Given the description of an element on the screen output the (x, y) to click on. 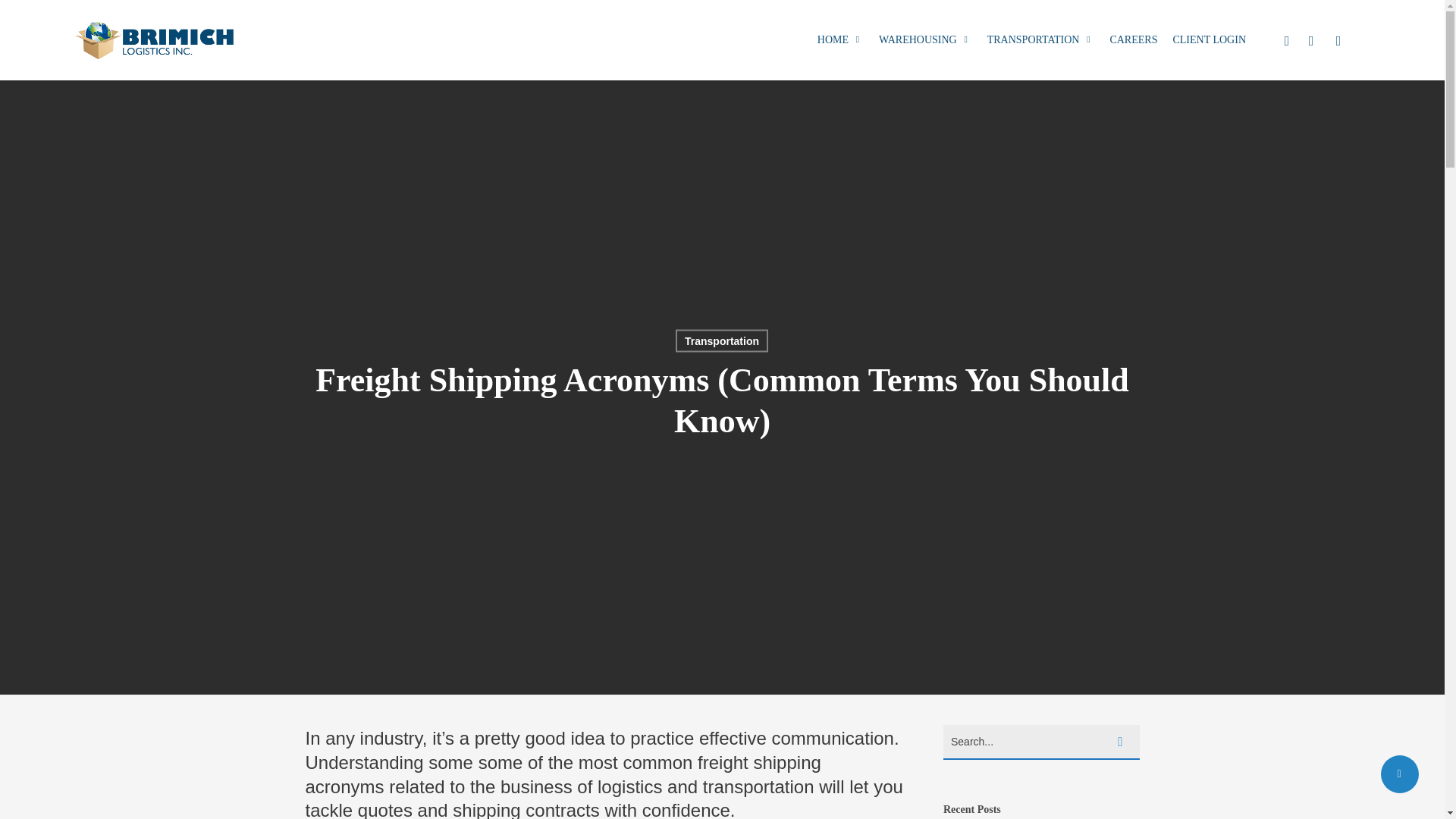
LINKEDIN (1310, 39)
Transportation (721, 340)
CAREERS (1133, 39)
FACEBOOK (1286, 39)
Search for: (1041, 742)
INSTAGRAM (1338, 39)
CLIENT LOGIN (1208, 39)
WAREHOUSING (924, 39)
TRANSPORTATION (1040, 39)
HOME (839, 39)
